Given the description of an element on the screen output the (x, y) to click on. 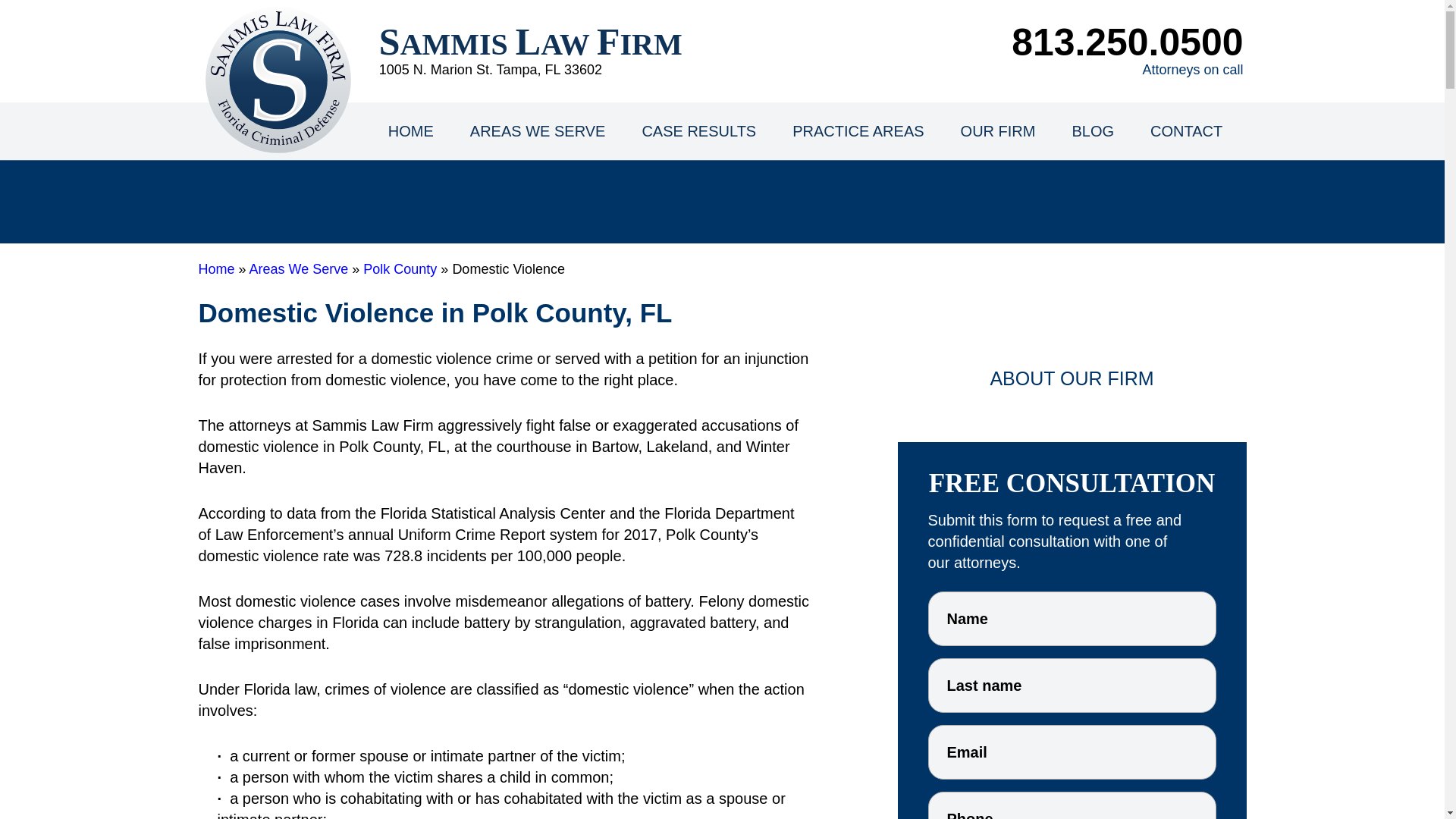
Sammis Law Firm (530, 44)
AREAS WE SERVE (537, 130)
CASE RESULTS (698, 130)
PRACTICE AREAS (858, 130)
HOME (410, 130)
813.250.0500 (1127, 42)
OUR FIRM (998, 130)
SAMMIS LAW FIRM (530, 44)
Sammis Law Firm (278, 79)
